Given the description of an element on the screen output the (x, y) to click on. 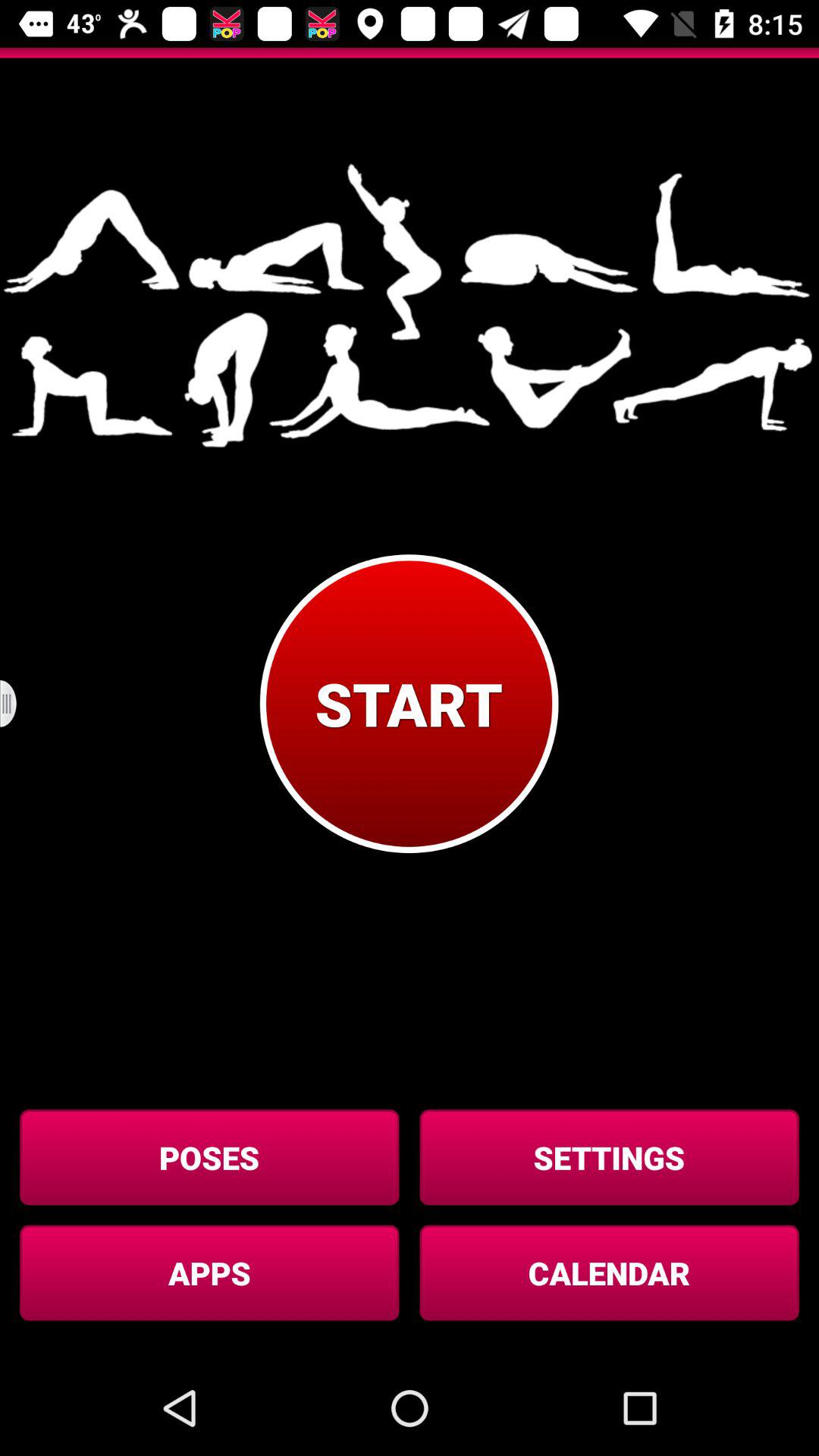
click button above the poses icon (18, 703)
